Given the description of an element on the screen output the (x, y) to click on. 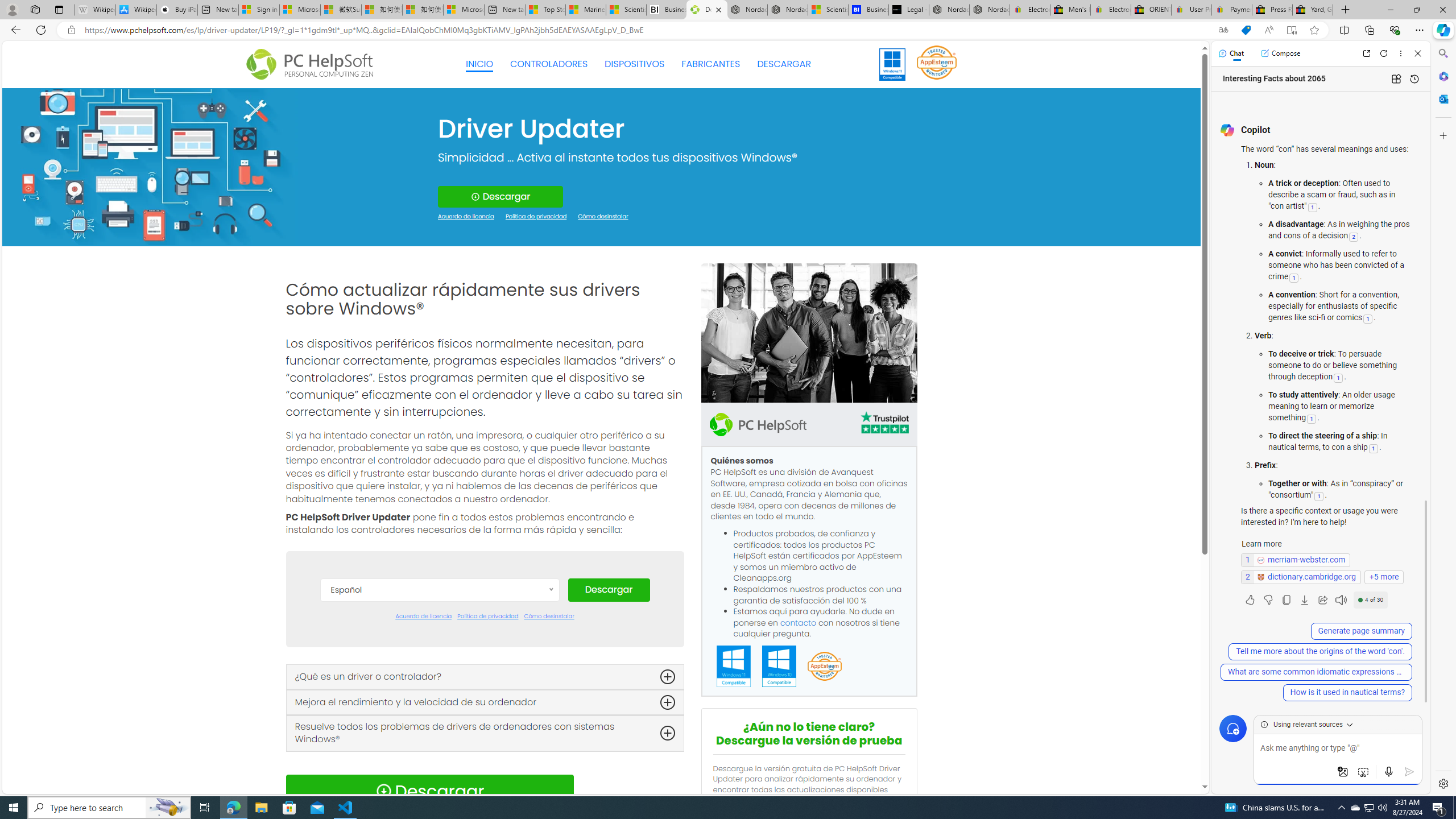
Electronics, Cars, Fashion, Collectibles & More | eBay (1110, 9)
Acuerdo de licencia (423, 615)
Generic (150, 166)
Deutsch (439, 678)
Buy iPad - Apple (176, 9)
DESCARGAR (783, 64)
